Given the description of an element on the screen output the (x, y) to click on. 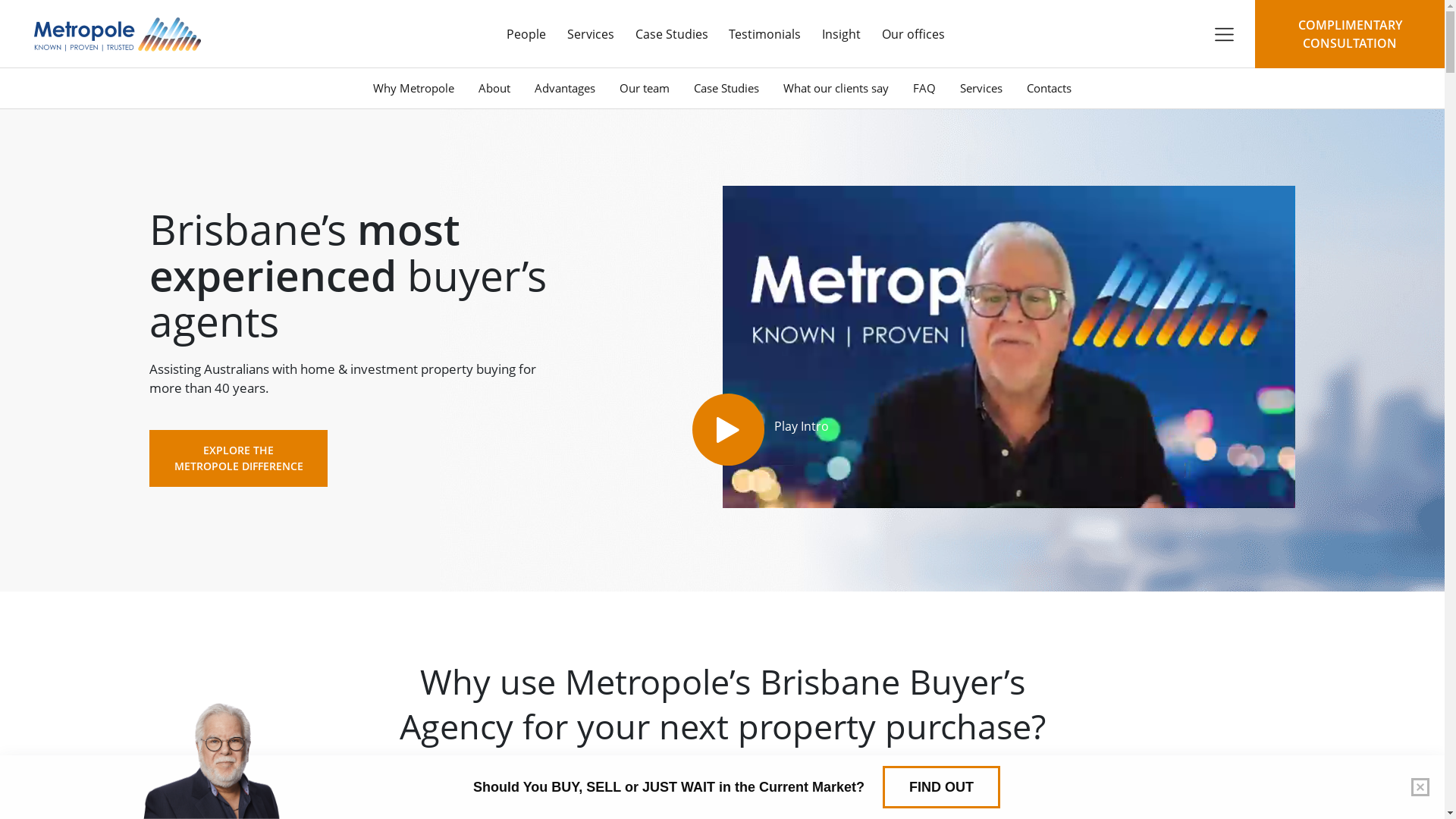
Services Element type: text (590, 34)
Case Studies Element type: text (671, 34)
FAQ Element type: text (923, 88)
Our offices Element type: text (912, 34)
Why Metropole Element type: text (413, 88)
Insight Element type: text (840, 34)
Advantages Element type: text (564, 88)
Services Element type: text (980, 88)
EXPLORE THE
METROPOLE DIFFERENCE Element type: text (238, 457)
COMPLIMENTARY
CONSULTATION Element type: text (1349, 34)
Play Intro Element type: text (727, 429)
Testimonials Element type: text (764, 34)
Case Studies Element type: text (726, 88)
Our team Element type: text (644, 88)
What our clients say Element type: text (835, 88)
People Element type: text (526, 34)
About Element type: text (494, 88)
Contacts Element type: text (1048, 88)
